Given the description of an element on the screen output the (x, y) to click on. 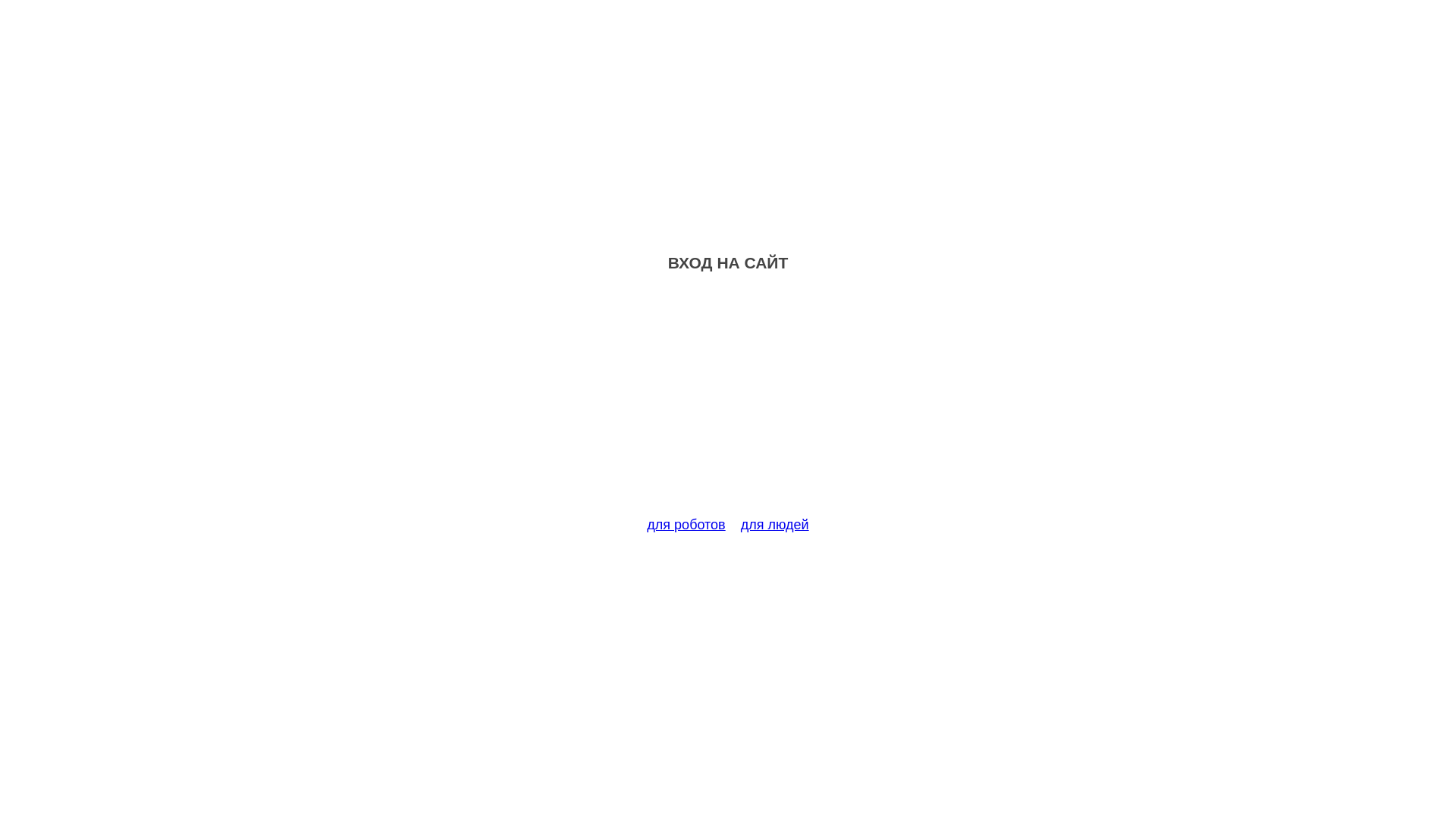
Advertisement Element type: hover (727, 403)
